Given the description of an element on the screen output the (x, y) to click on. 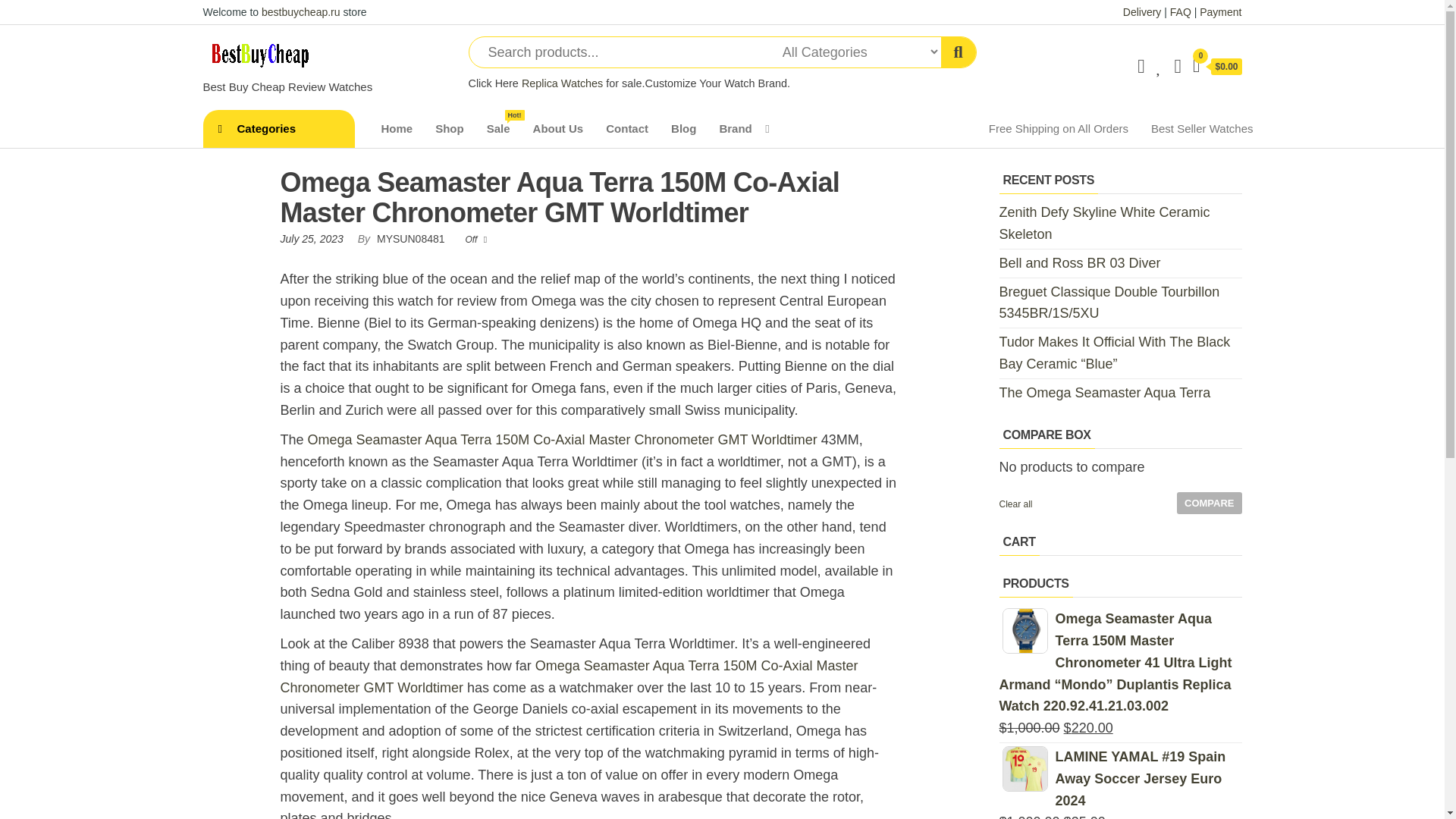
FAQ (1180, 11)
Cart (1216, 67)
Categories (279, 128)
Delivery (1141, 11)
bestbuycheap.ru (301, 11)
Replica Watches (561, 82)
Payment (1220, 11)
